Given the description of an element on the screen output the (x, y) to click on. 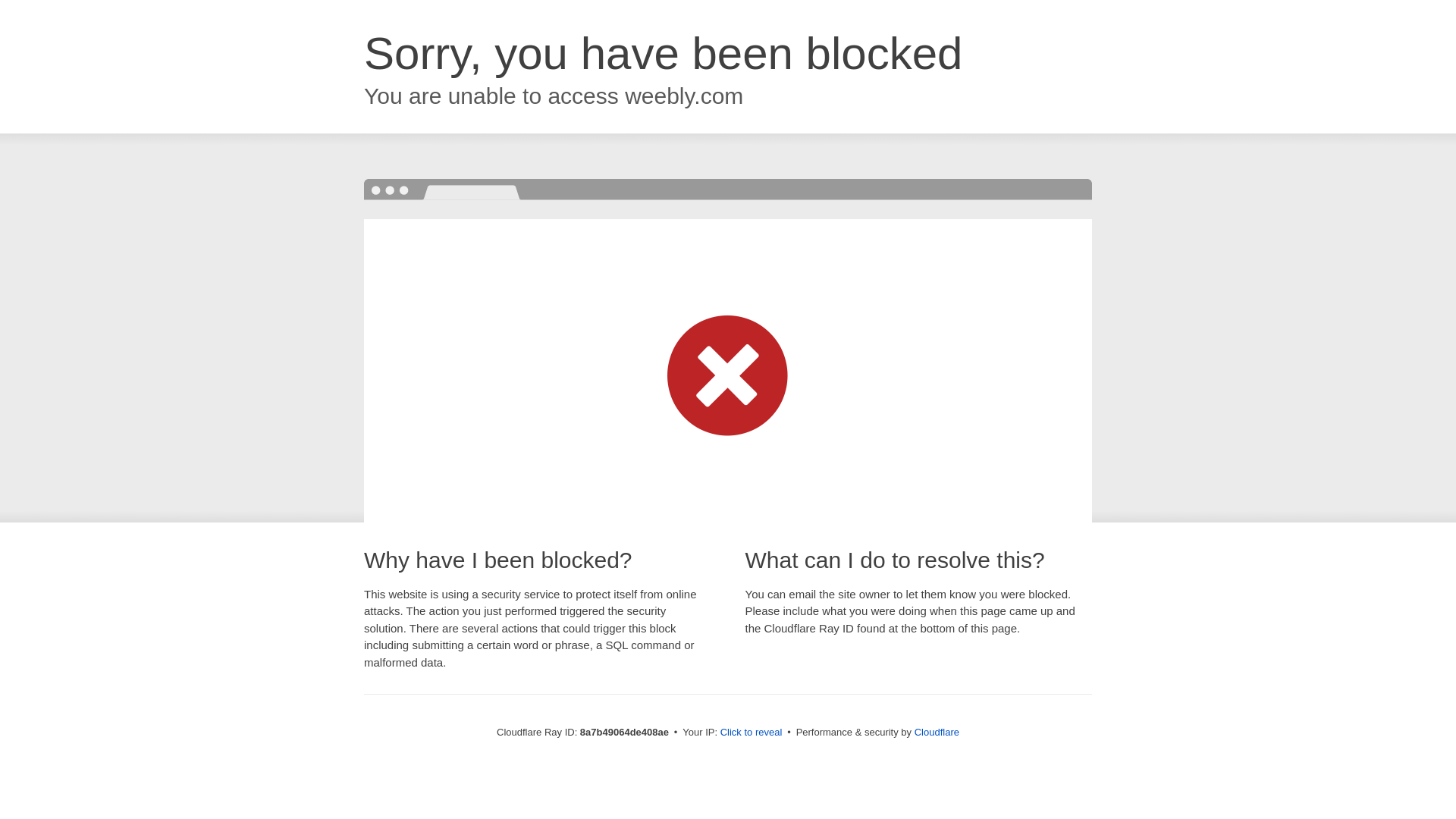
Click to reveal (751, 732)
Cloudflare (936, 731)
